Given the description of an element on the screen output the (x, y) to click on. 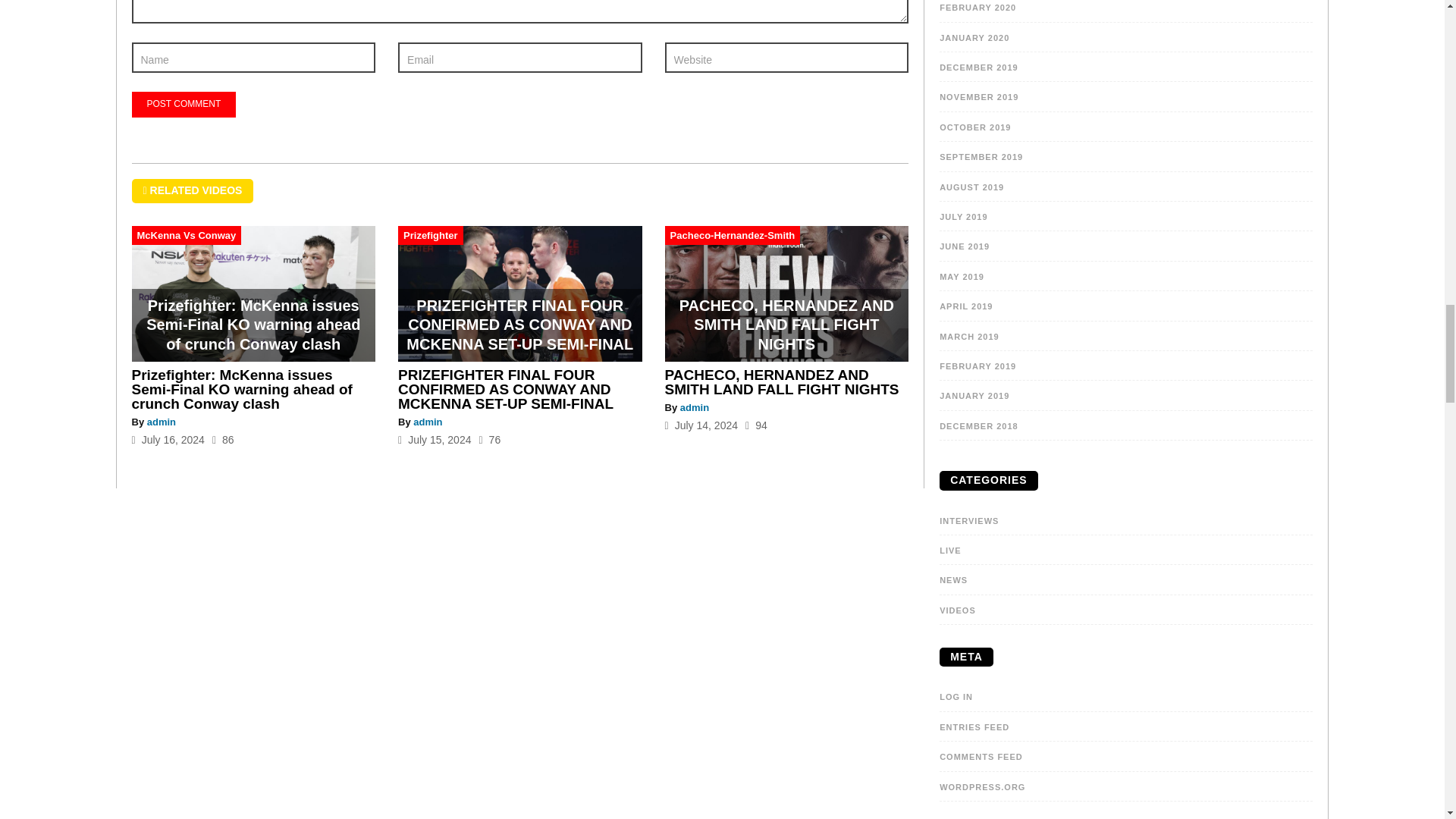
Post Comment (183, 104)
Posts by admin (427, 421)
PACHECO, HERNANDEZ AND SMITH LAND FALL FIGHT NIGHTS (782, 381)
Visits (756, 425)
Visits (223, 439)
Visits (489, 439)
Post Comment (183, 104)
admin (427, 421)
admin (161, 421)
admin (694, 407)
Posts by admin (694, 407)
Posts by admin (161, 421)
